Given the description of an element on the screen output the (x, y) to click on. 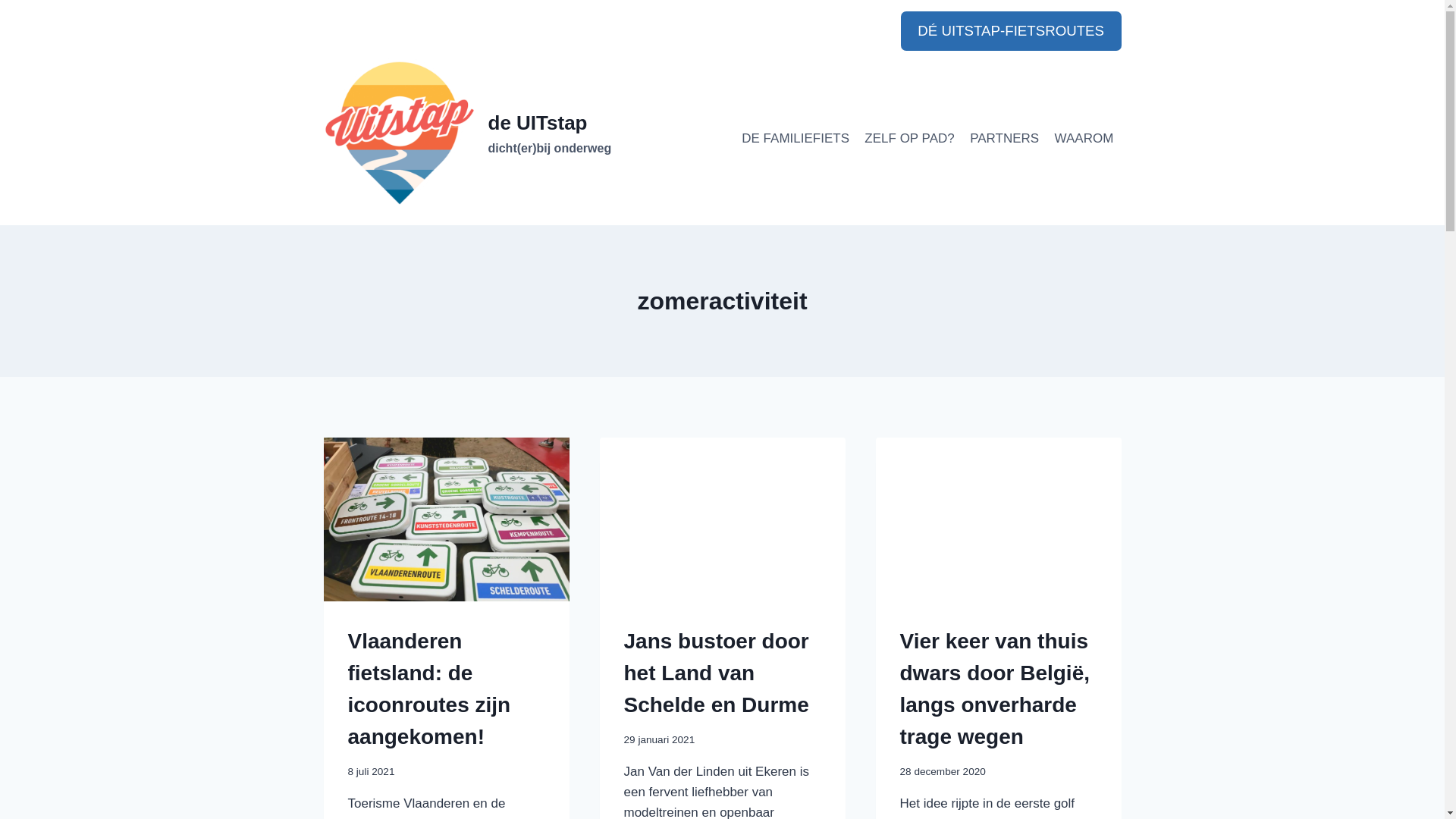
PARTNERS Element type: text (1004, 138)
ZELF OP PAD? Element type: text (909, 138)
Jans bustoer door het Land van Schelde en Durme Element type: text (715, 672)
Vlaanderen fietsland: de icoonroutes zijn aangekomen! Element type: text (428, 688)
DE FAMILIEFIETS Element type: text (795, 138)
WAAROM Element type: text (1083, 138)
de UITstap
dicht(er)bij onderweg Element type: text (467, 134)
